Given the description of an element on the screen output the (x, y) to click on. 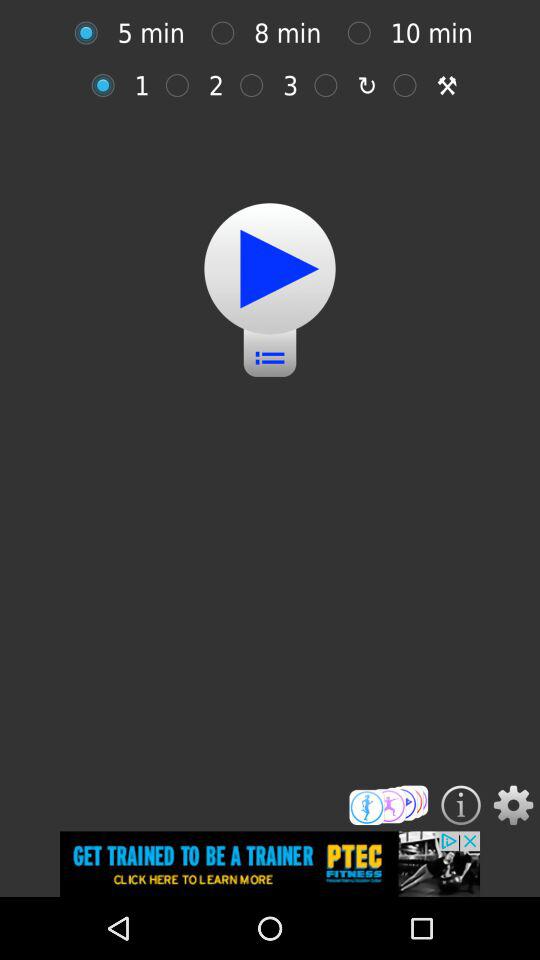
play video (269, 268)
